Given the description of an element on the screen output the (x, y) to click on. 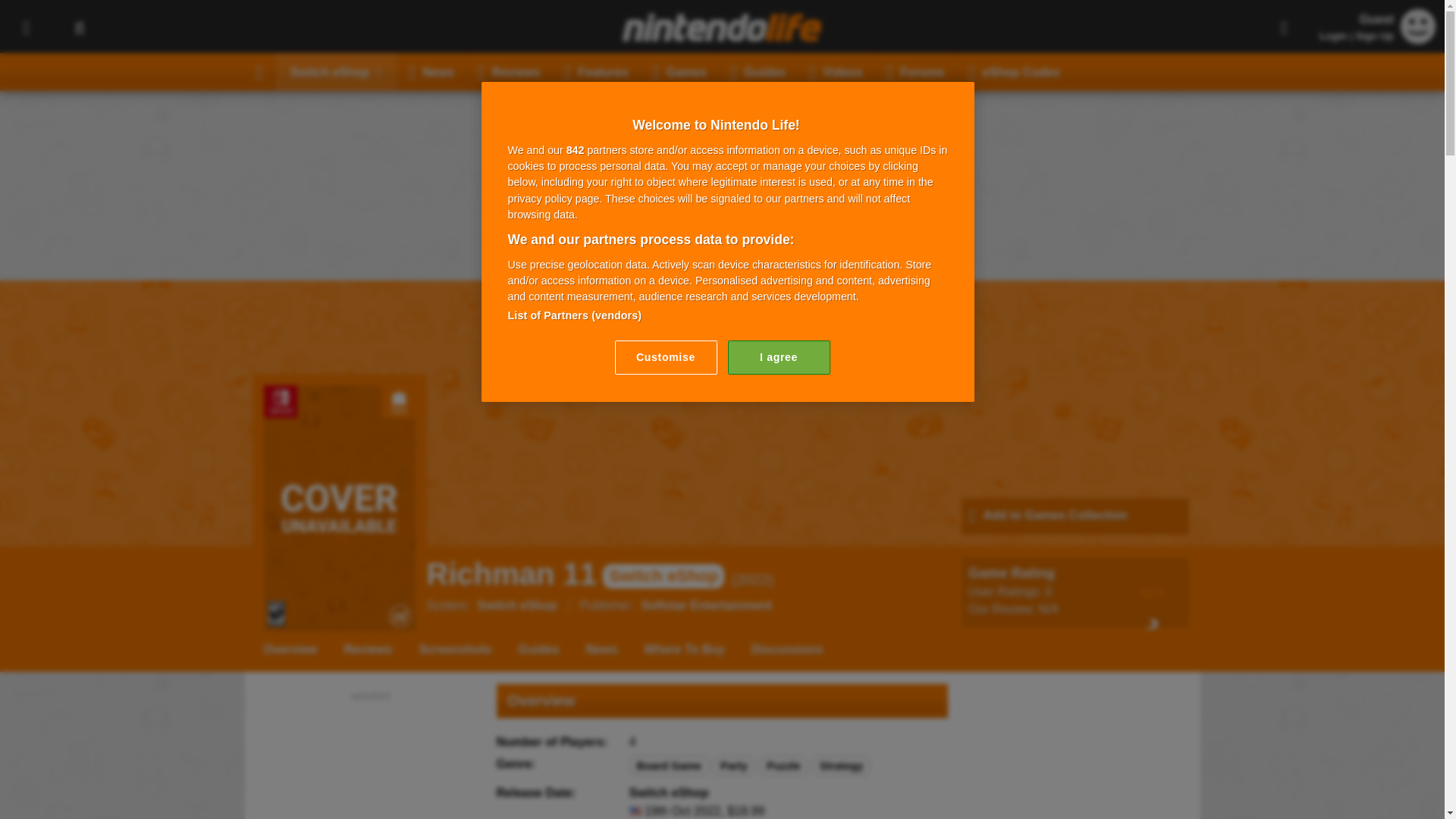
Guest (1417, 26)
Videos (836, 71)
Login (1332, 35)
Nintendo Life (721, 27)
Guest (1417, 39)
Topics (26, 26)
Share This Page (1283, 26)
News (431, 71)
Features (596, 71)
Search (79, 26)
eShop Codes (1013, 71)
Reviews (509, 71)
Nintendo Life (721, 27)
Forums (915, 71)
Games (679, 71)
